Given the description of an element on the screen output the (x, y) to click on. 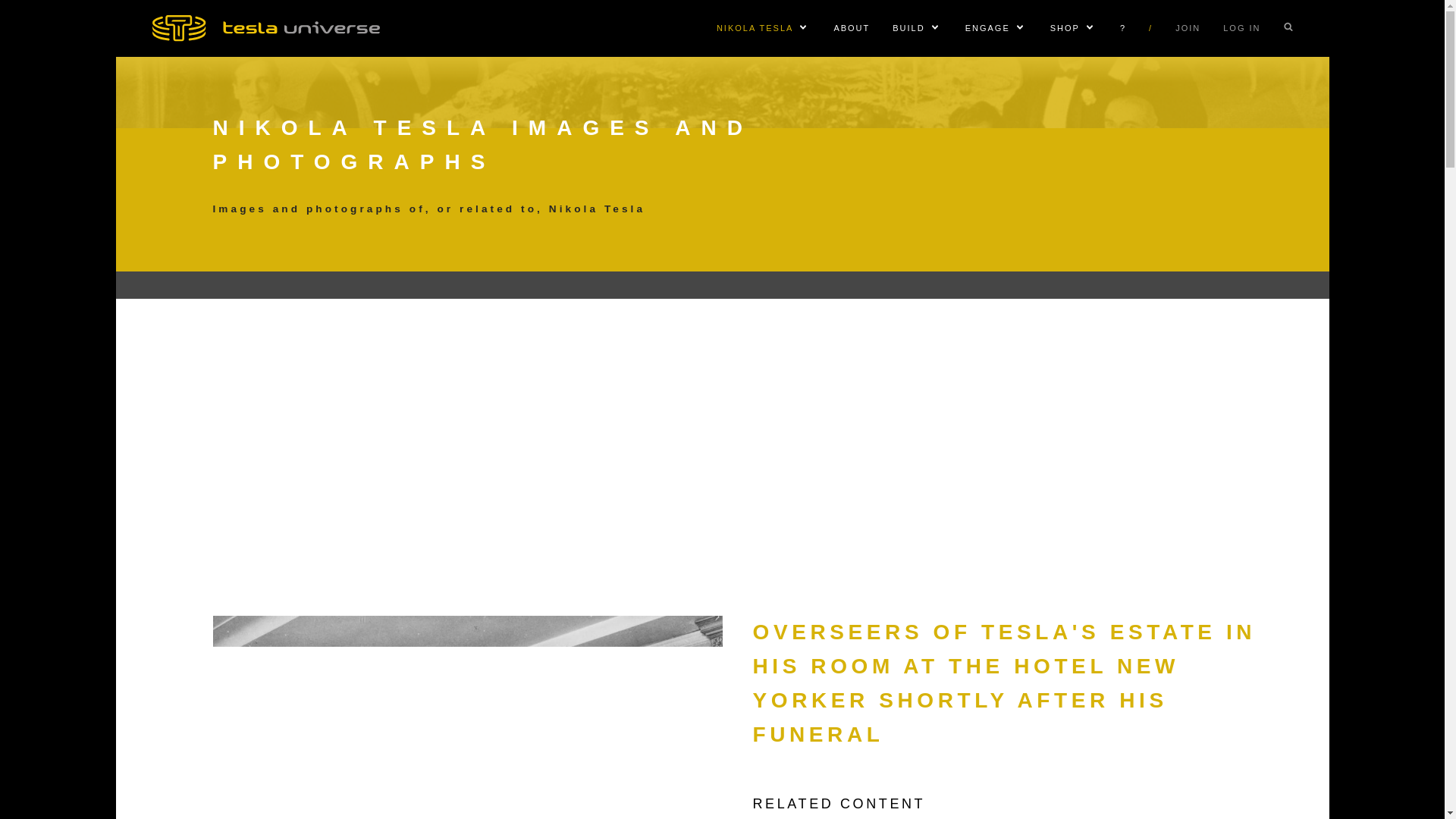
NIKOLA TESLA (754, 28)
